Given the description of an element on the screen output the (x, y) to click on. 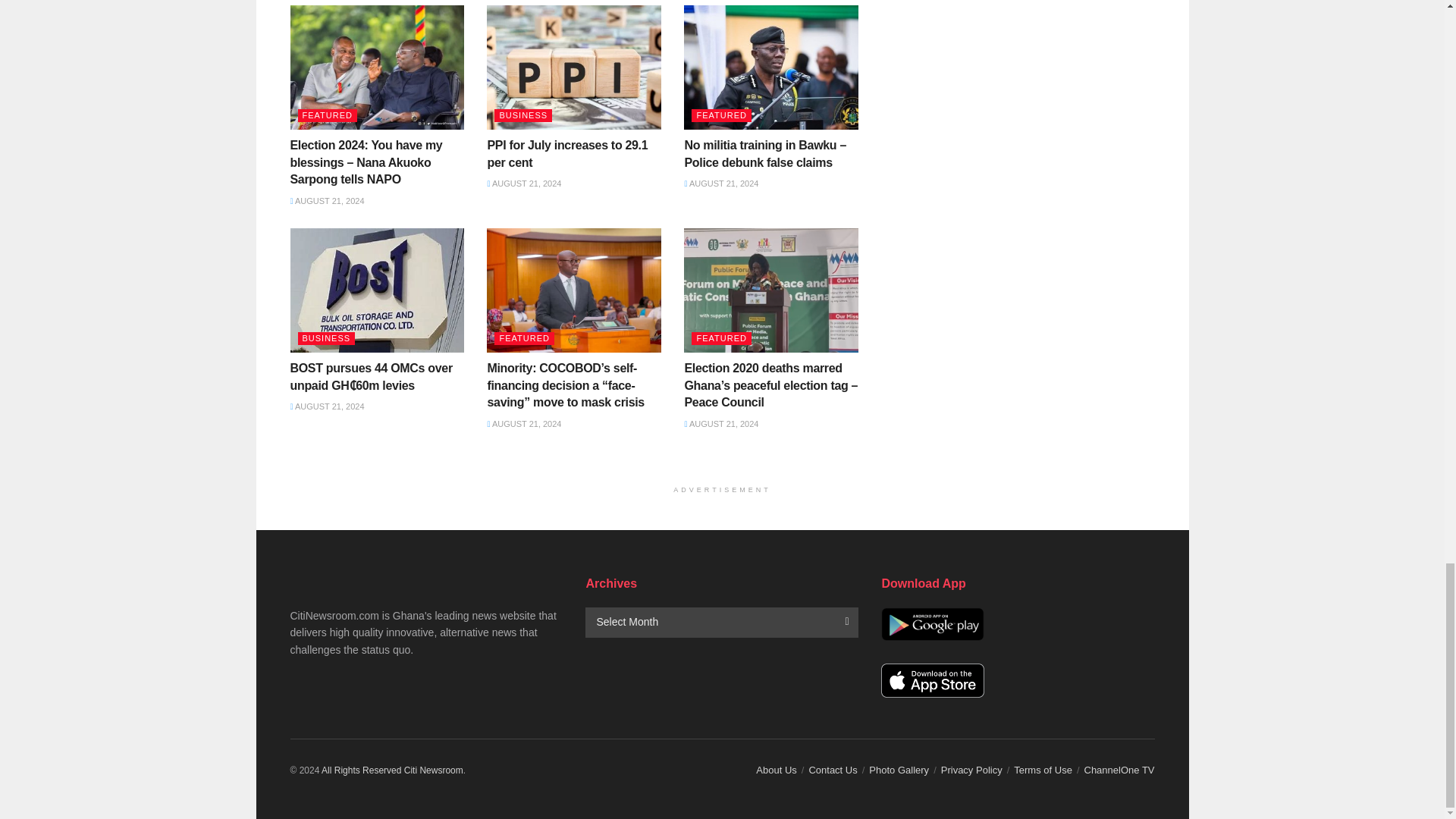
Google Play (932, 624)
App Store (932, 680)
Citi Newsroom (433, 769)
Citi Newsroom (361, 769)
